Given the description of an element on the screen output the (x, y) to click on. 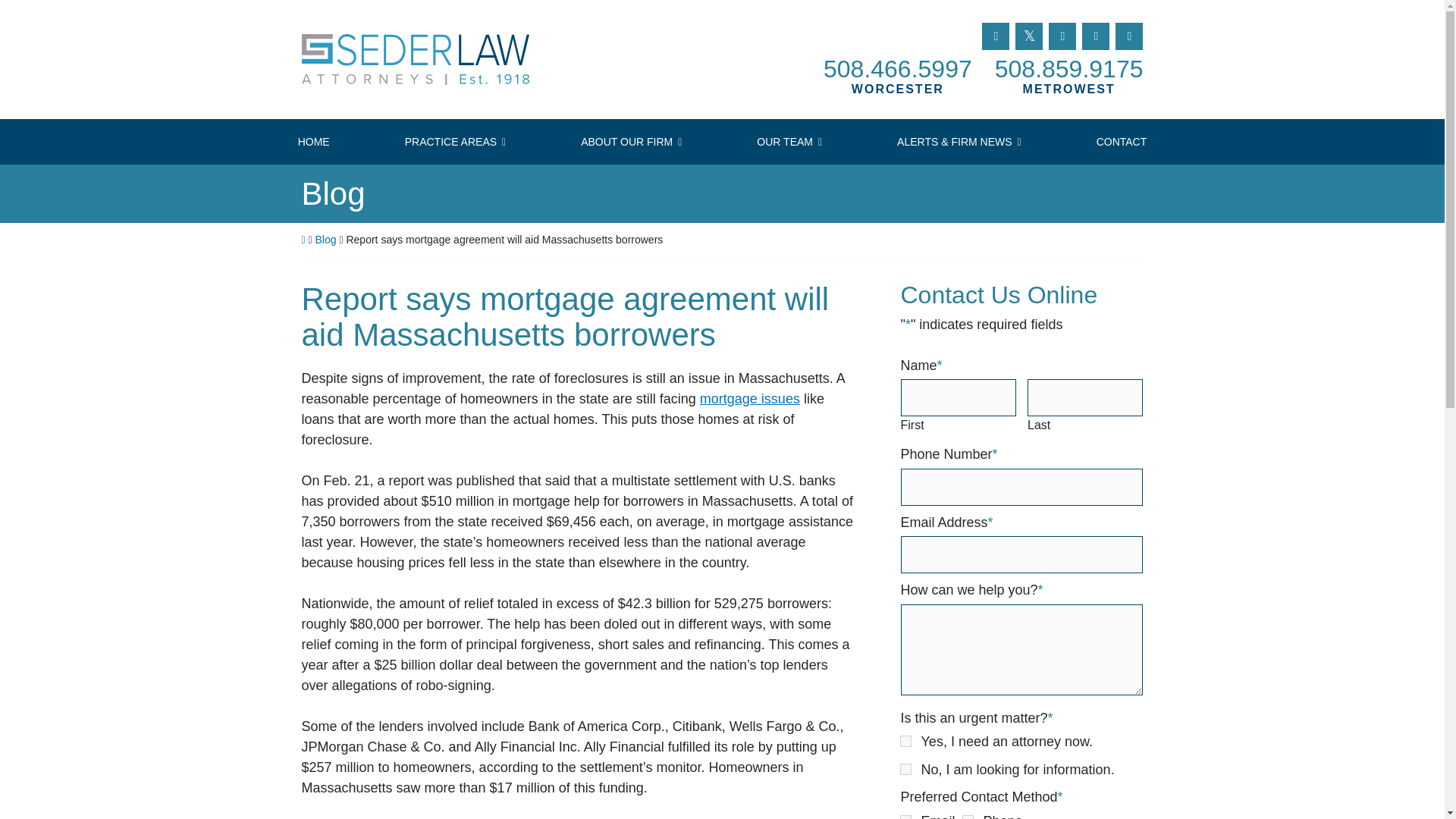
View our firm profile on LinkedIn, opens in a new window (1061, 35)
View our profile on Facebook, opens in a new window (995, 35)
Phone (965, 816)
View our channel on Youtube, opens in a new window (1095, 35)
View our feed on Twitter, opens in a new window (1028, 35)
View our profile on Instagram, opens in a new window (1128, 35)
PRACTICE AREAS (454, 141)
Return home (434, 59)
HOME (312, 141)
